Given the description of an element on the screen output the (x, y) to click on. 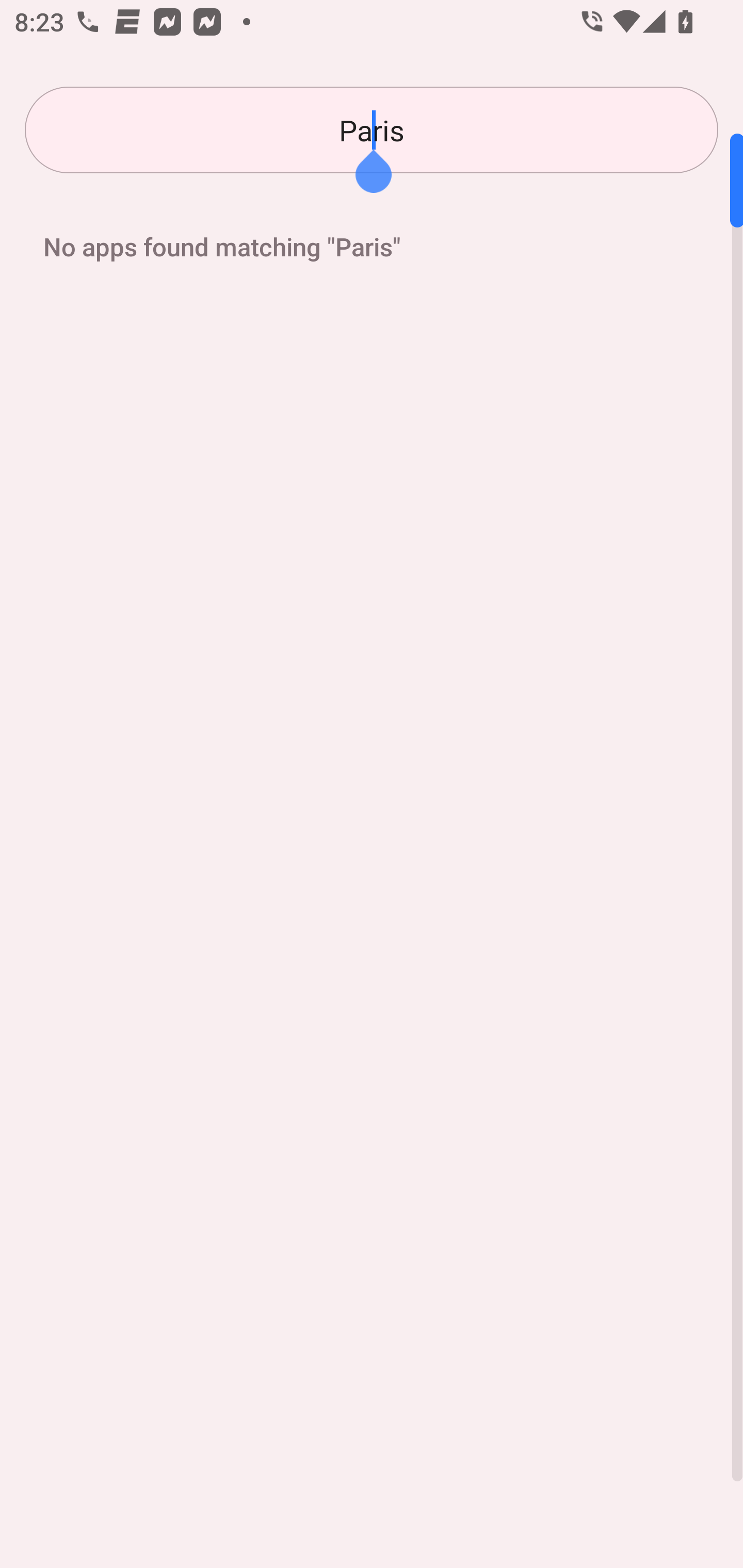
Paris (371, 130)
